Given the description of an element on the screen output the (x, y) to click on. 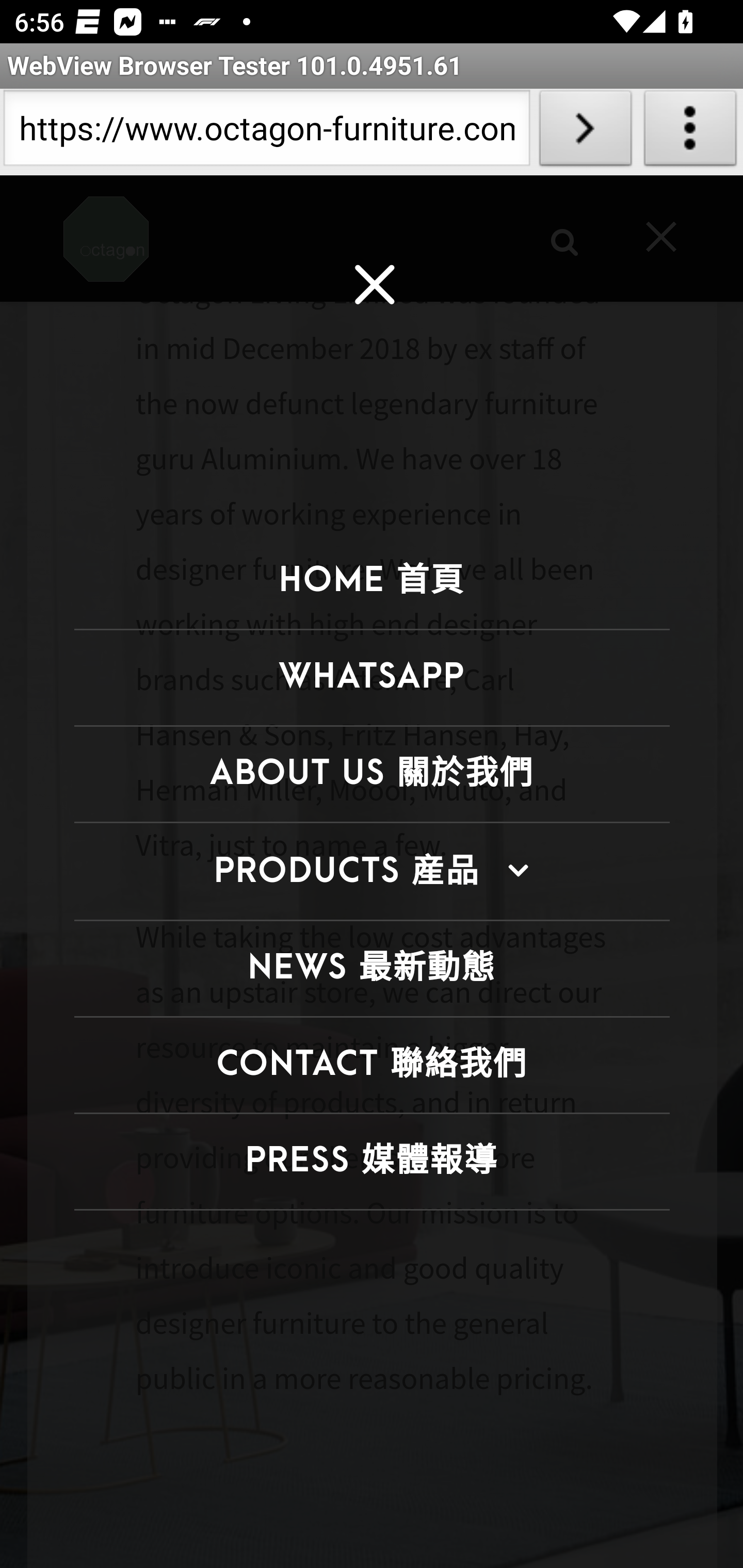
Load URL (585, 132)
About WebView (690, 132)
M (372, 287)
HOME 首頁 (371, 581)
WHATSAPP (371, 677)
ABOUT US 關於我們 (371, 774)
PRODUCTS 産品 PRODUCTS 産品  (372, 871)
NEWS 最新動態 (371, 967)
CONTACT 聯絡我們 (371, 1065)
PRESS 媒體報導 (371, 1160)
